Given the description of an element on the screen output the (x, y) to click on. 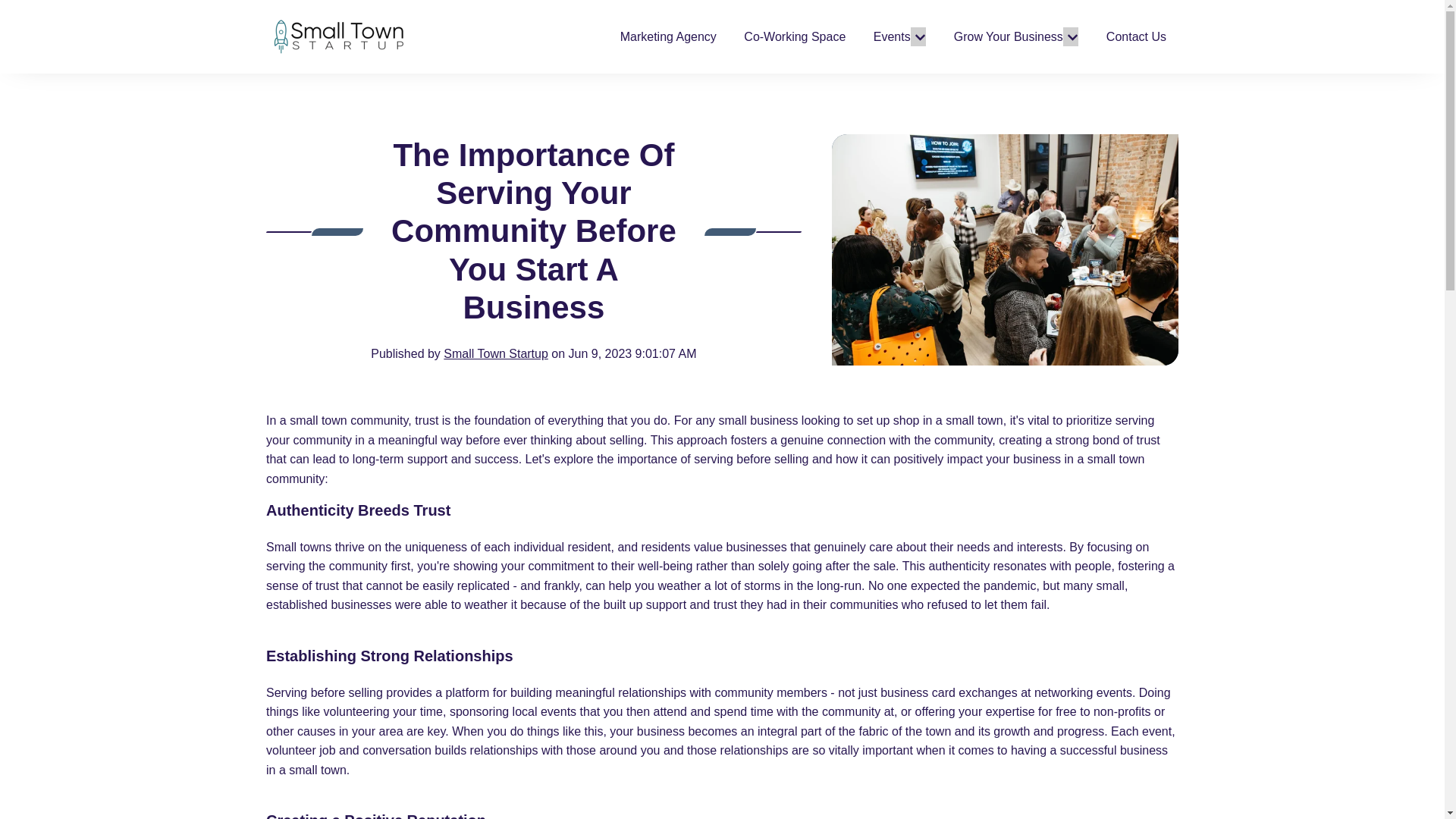
Co-Working Space (794, 36)
Contact Us (1136, 36)
Events (892, 36)
Grow Your Business (1007, 36)
Small Town Startup (496, 353)
Marketing Agency (668, 36)
